Given the description of an element on the screen output the (x, y) to click on. 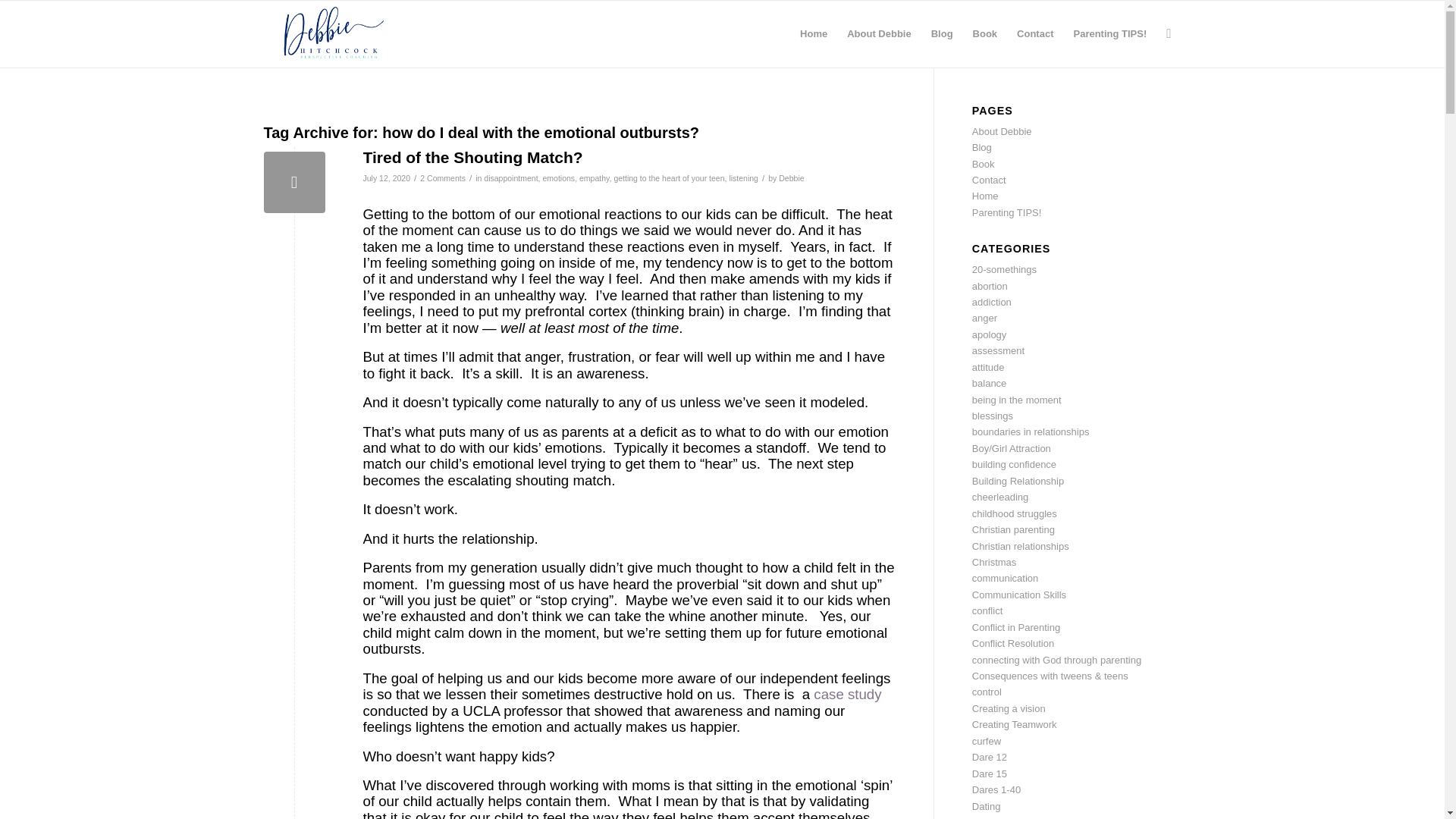
case study (846, 693)
Tired of the Shouting Match? (472, 157)
getting to the heart of your teen (667, 177)
addiction (991, 301)
disappointment (510, 177)
About Debbie (879, 33)
2 Comments (442, 177)
Tired of the Shouting Match? (293, 181)
abortion (989, 285)
Debbie (790, 177)
About Debbie (1002, 131)
apology (989, 334)
Book (983, 163)
Home (985, 195)
Parenting TIPS! (1007, 212)
